Given the description of an element on the screen output the (x, y) to click on. 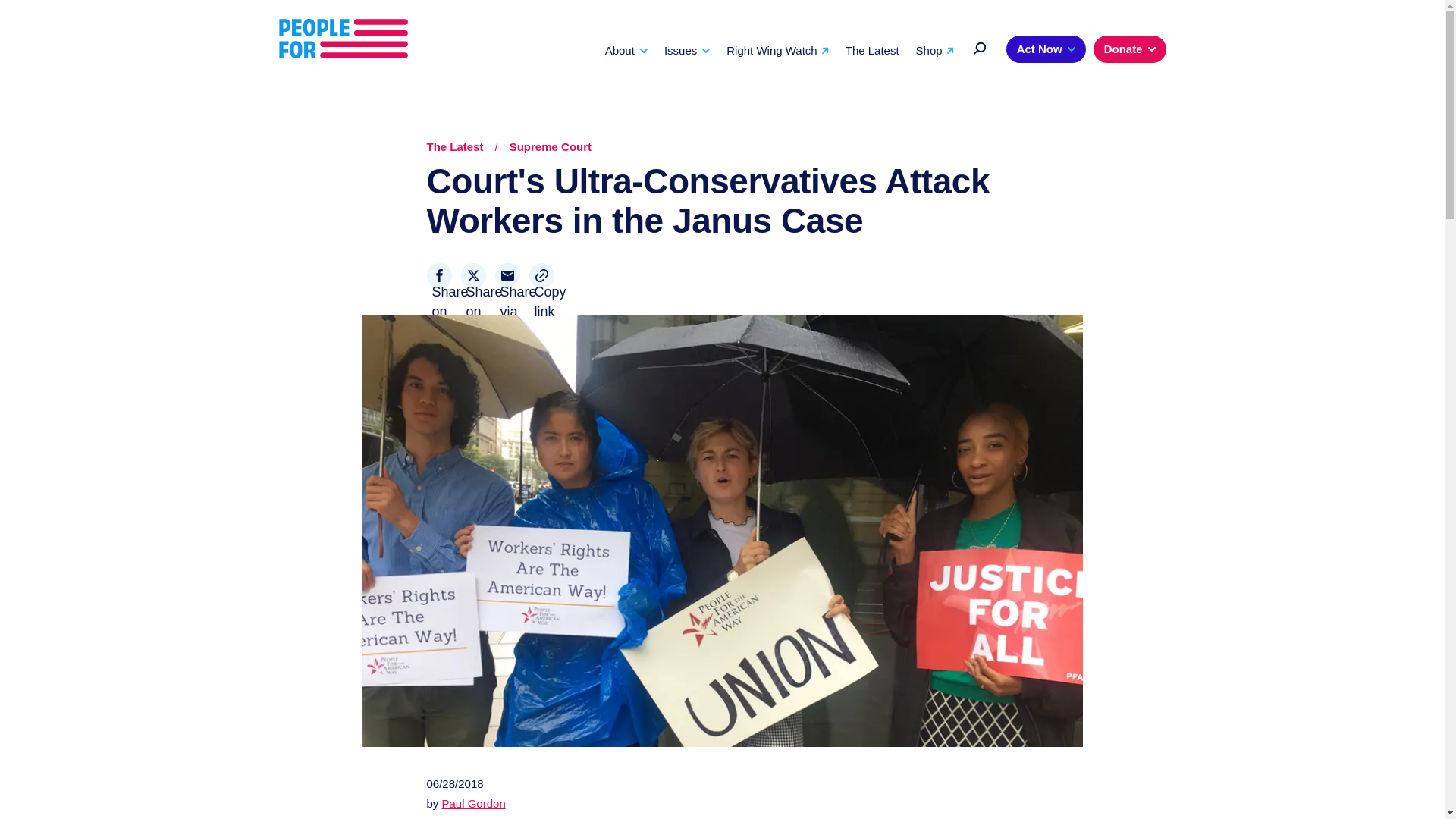
Act Now (1046, 49)
Donate (1129, 49)
Shop (934, 50)
Issues (686, 50)
Share to Facebook (438, 275)
Share to Email (507, 275)
The Latest (872, 50)
Home (343, 38)
Share to X (473, 275)
About (626, 50)
Right Wing Watch (777, 50)
